Given the description of an element on the screen output the (x, y) to click on. 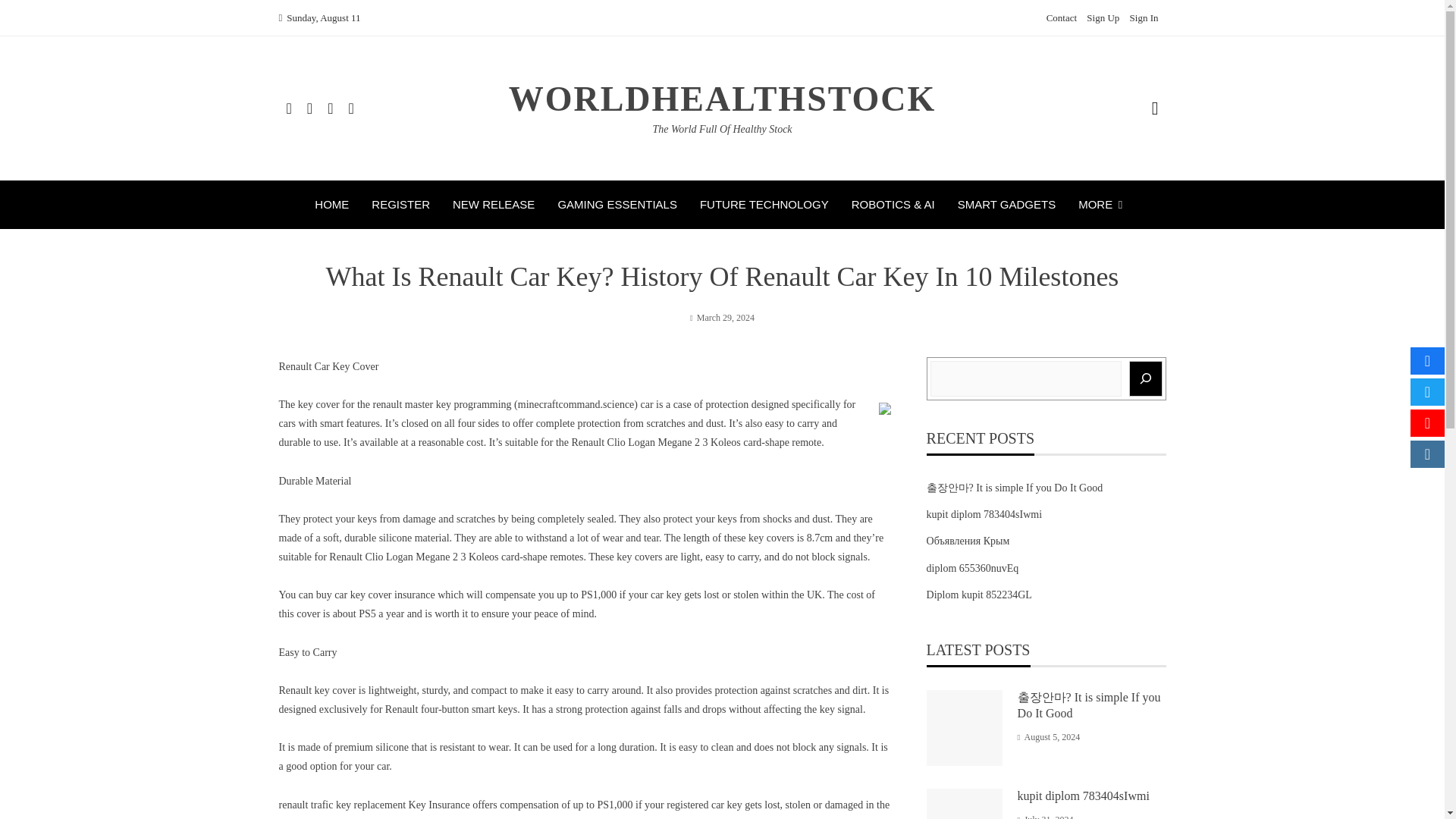
minecraftcommand.science (576, 404)
kupit diplom 783404sIwmi (984, 514)
MORE (1103, 204)
Contact (1061, 17)
HOME (331, 204)
kupit diplom 783404sIwmi (1083, 795)
The World Full Of Healthy Stock (722, 129)
FUTURE TECHNOLOGY (764, 204)
Sign Up (1102, 17)
diplom 655360nuvEq (972, 568)
